Given the description of an element on the screen output the (x, y) to click on. 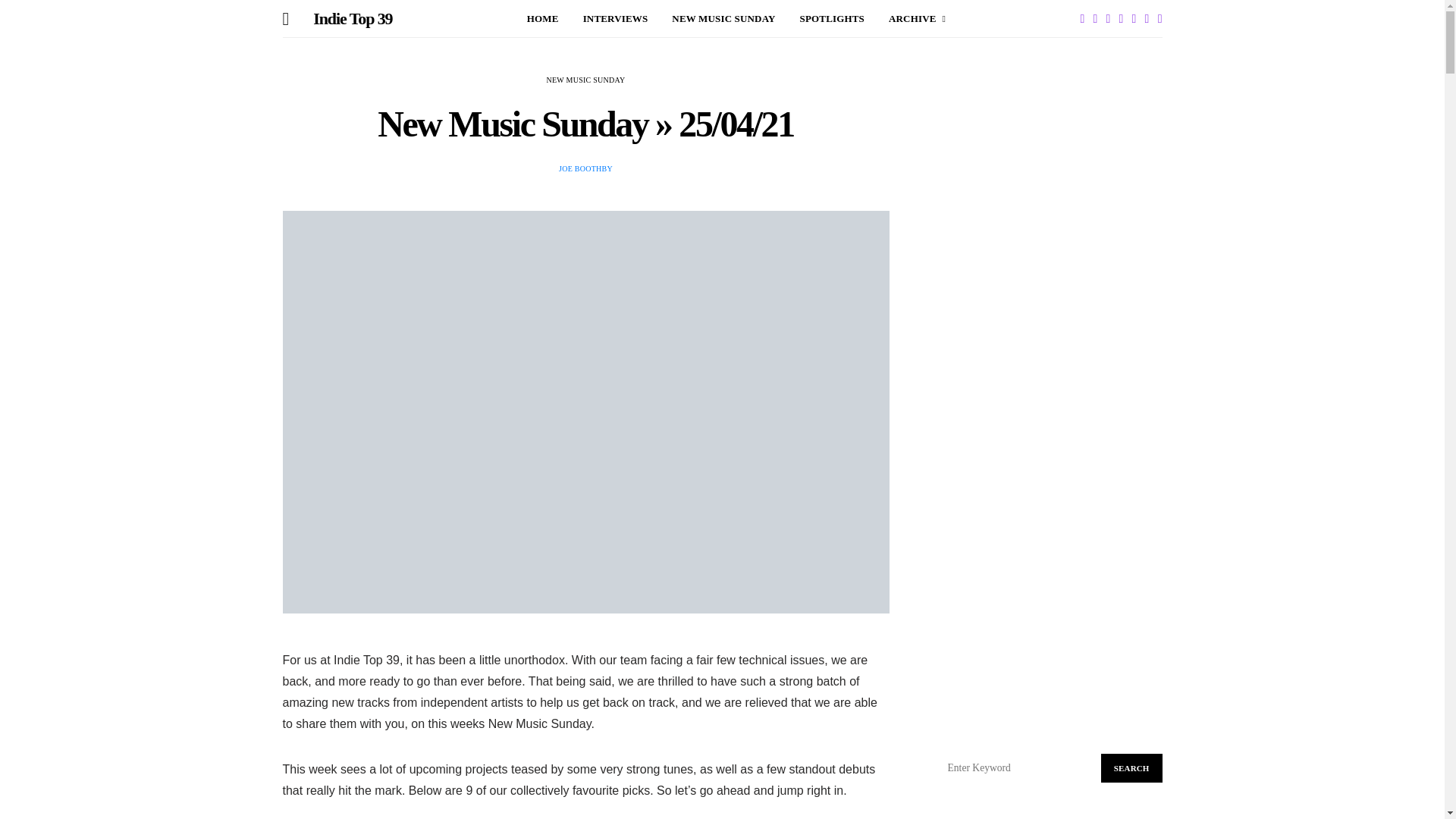
INTERVIEWS (615, 18)
ARCHIVE (916, 18)
Indie Top 39 (352, 18)
SPOTLIGHTS (831, 18)
NEW MUSIC SUNDAY (722, 18)
View all posts by Joe Boothby (585, 168)
